Given the description of an element on the screen output the (x, y) to click on. 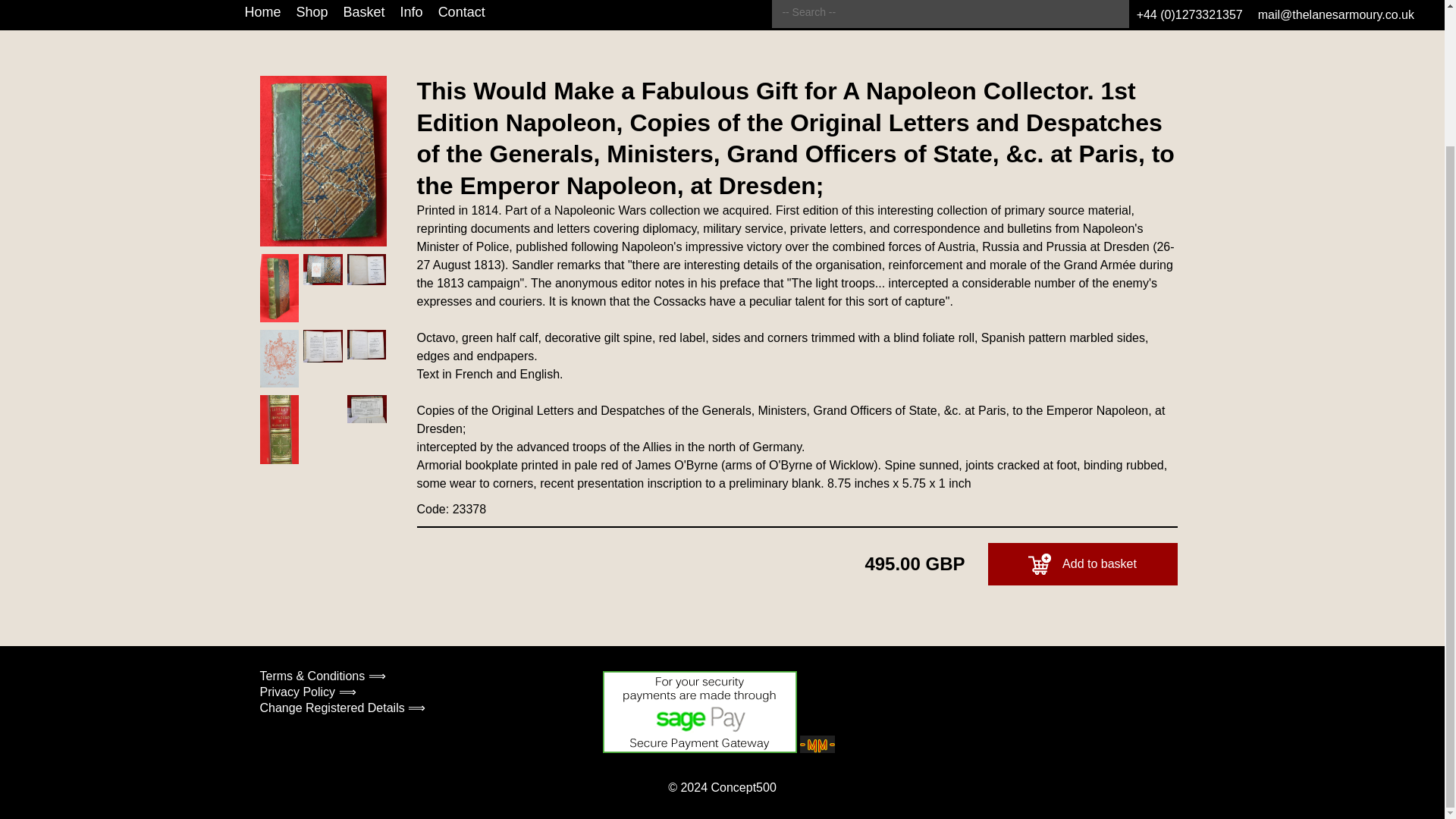
Concept500 (743, 787)
Go (1190, 14)
Basket (364, 15)
Go (1190, 14)
Sagepay (699, 711)
Shop (312, 15)
add to basket (1039, 563)
Add to basket (1081, 563)
Home (261, 15)
Info (411, 15)
